Given the description of an element on the screen output the (x, y) to click on. 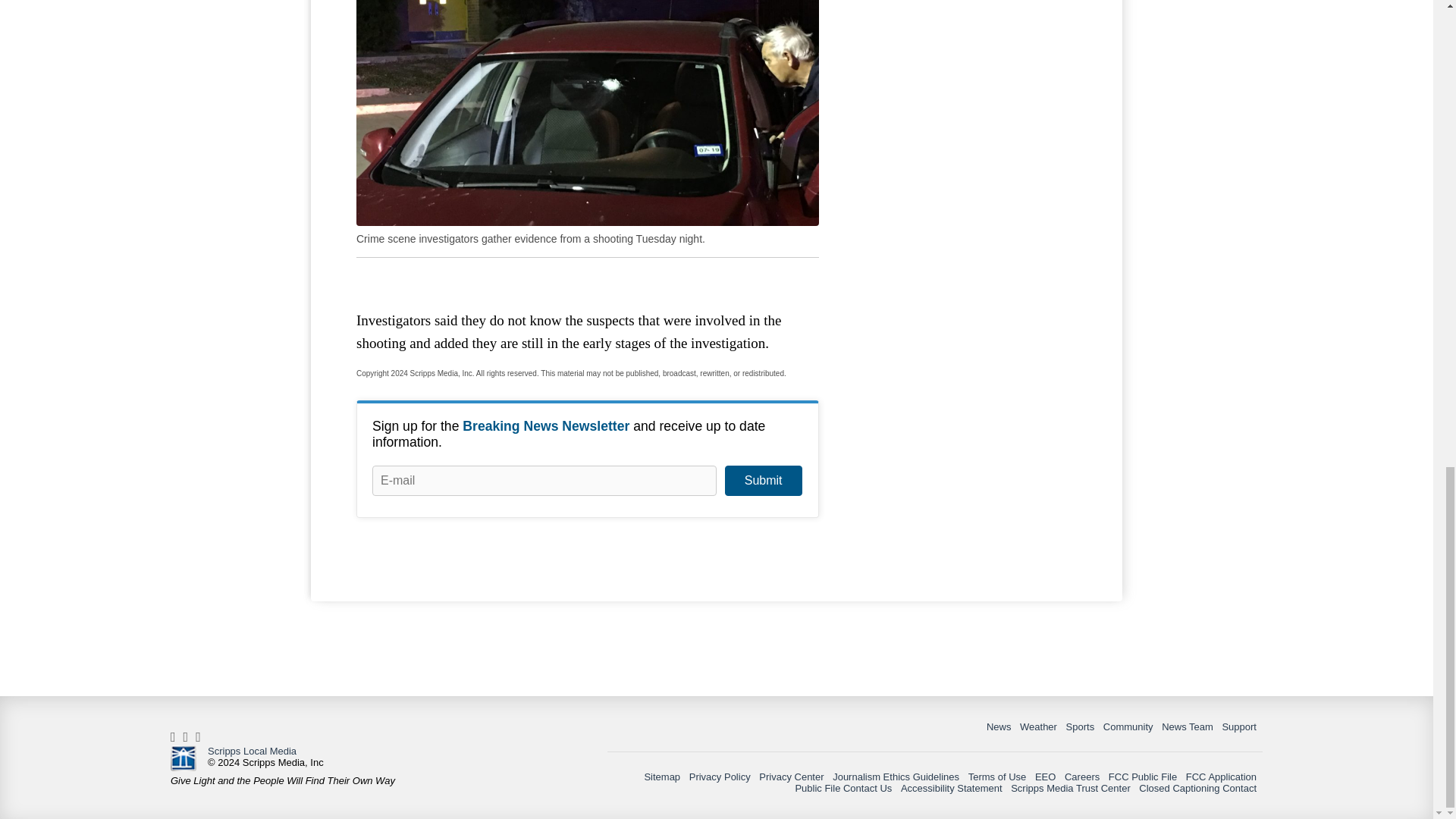
Submit (763, 481)
